Given the description of an element on the screen output the (x, y) to click on. 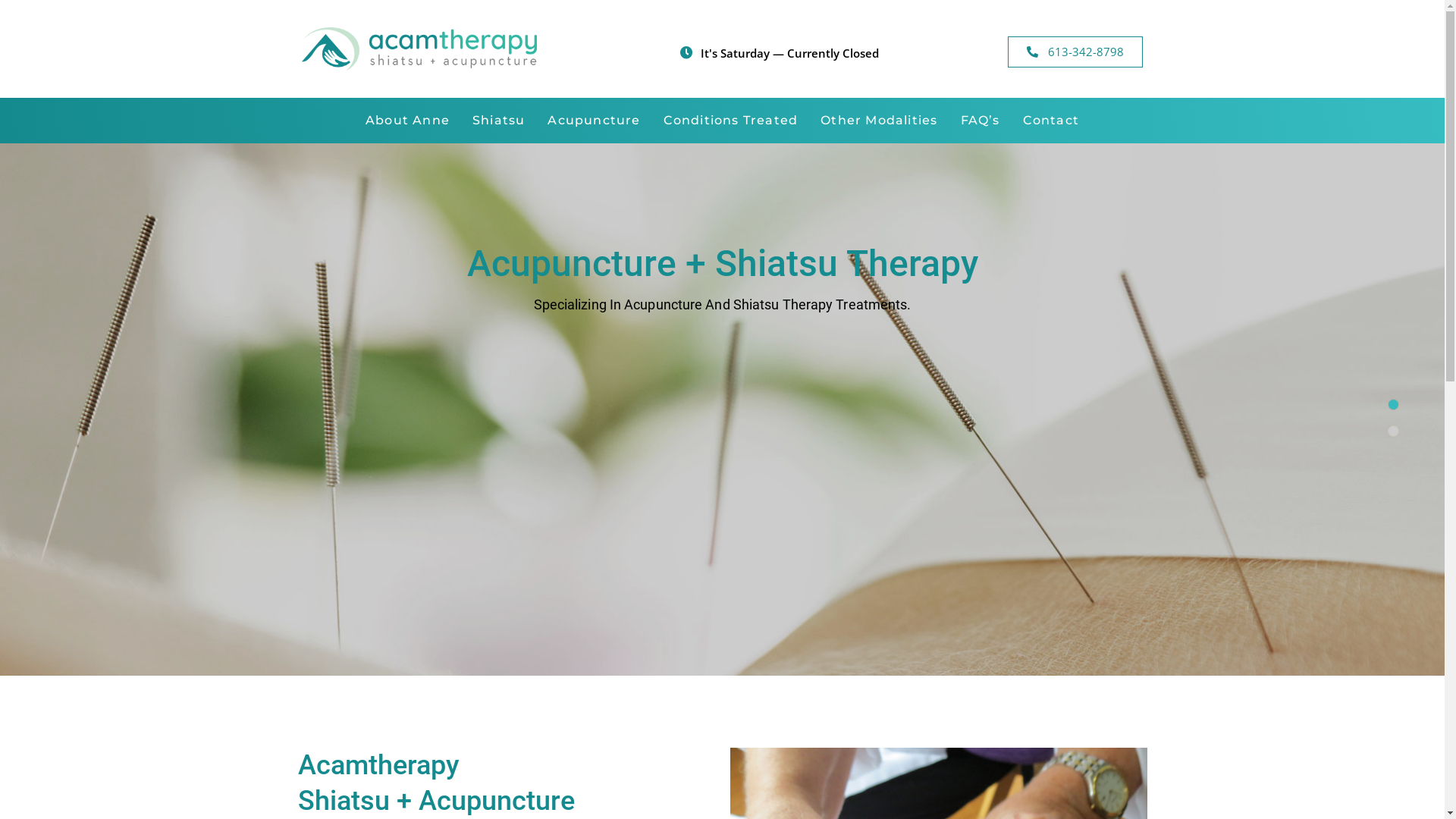
Shiatsu Element type: text (498, 120)
Other Modalities Element type: text (878, 120)
Conditions Treated Element type: text (730, 120)
Contact Element type: text (1050, 120)
613-342-8798 Element type: text (1074, 51)
About Anne Element type: text (407, 120)
Acupuncture Element type: text (593, 120)
